Given the description of an element on the screen output the (x, y) to click on. 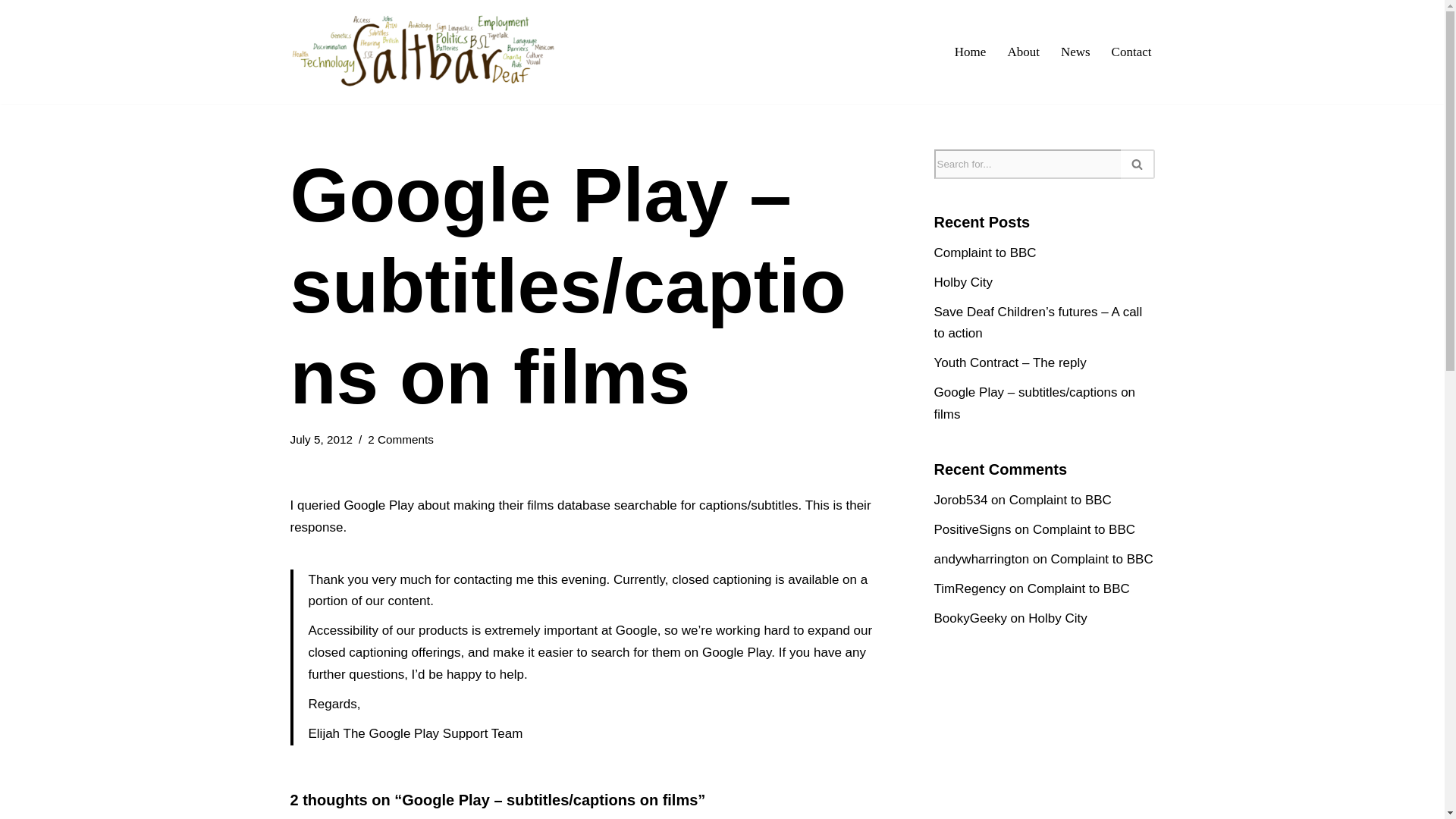
BookyGeeky (970, 617)
Complaint to BBC (1060, 499)
Holby City (1056, 617)
PositiveSigns (972, 529)
TimRegency (970, 588)
Complaint to BBC (1078, 588)
Jorob534 (961, 499)
Home (971, 51)
2 Comments (400, 439)
Complaint to BBC (1083, 529)
Complaint to BBC (985, 252)
andywharrington (981, 559)
Contact (1131, 51)
Skip to content (11, 31)
Holby City (963, 282)
